Given the description of an element on the screen output the (x, y) to click on. 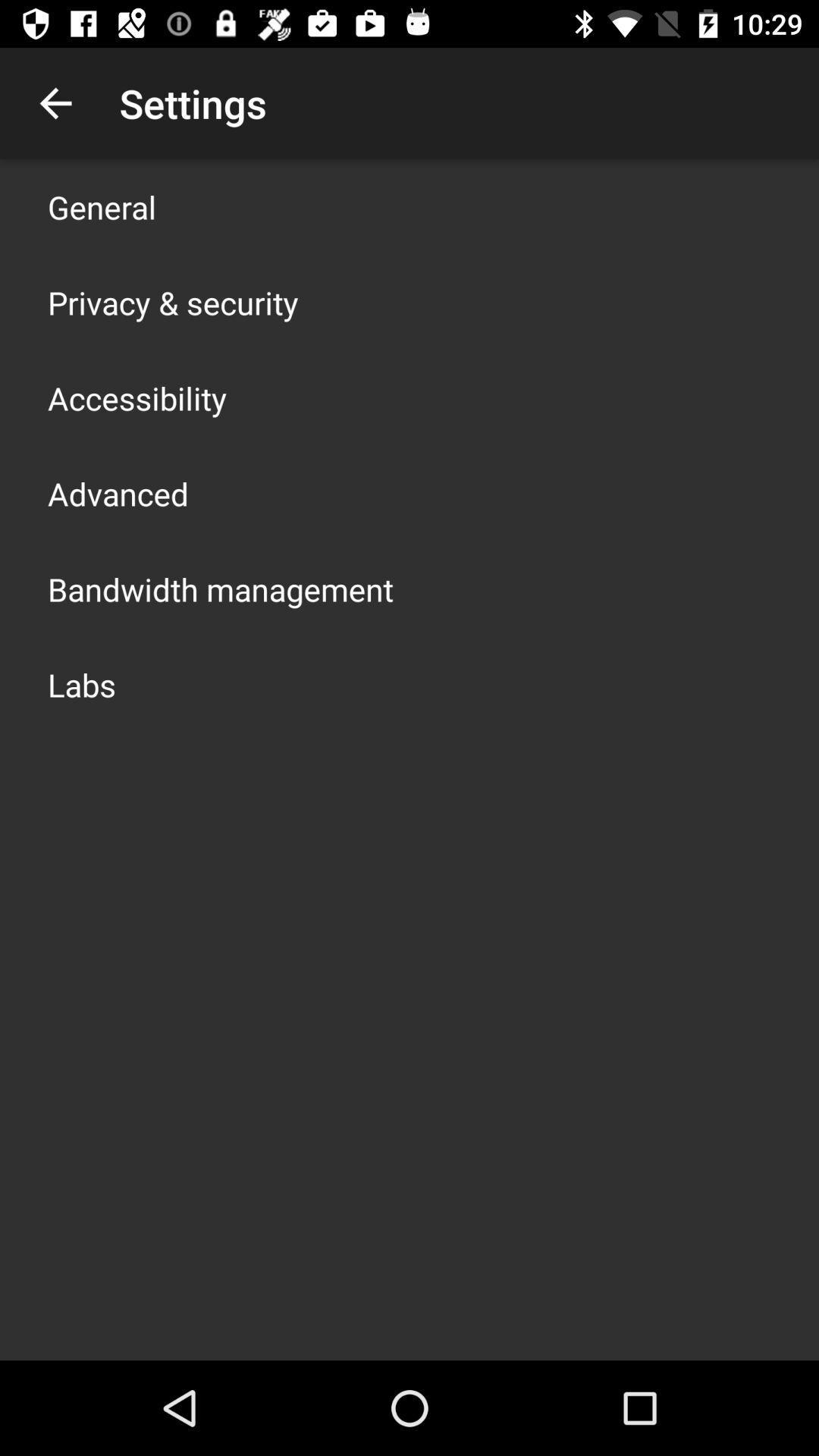
turn on the app next to the settings item (55, 103)
